Given the description of an element on the screen output the (x, y) to click on. 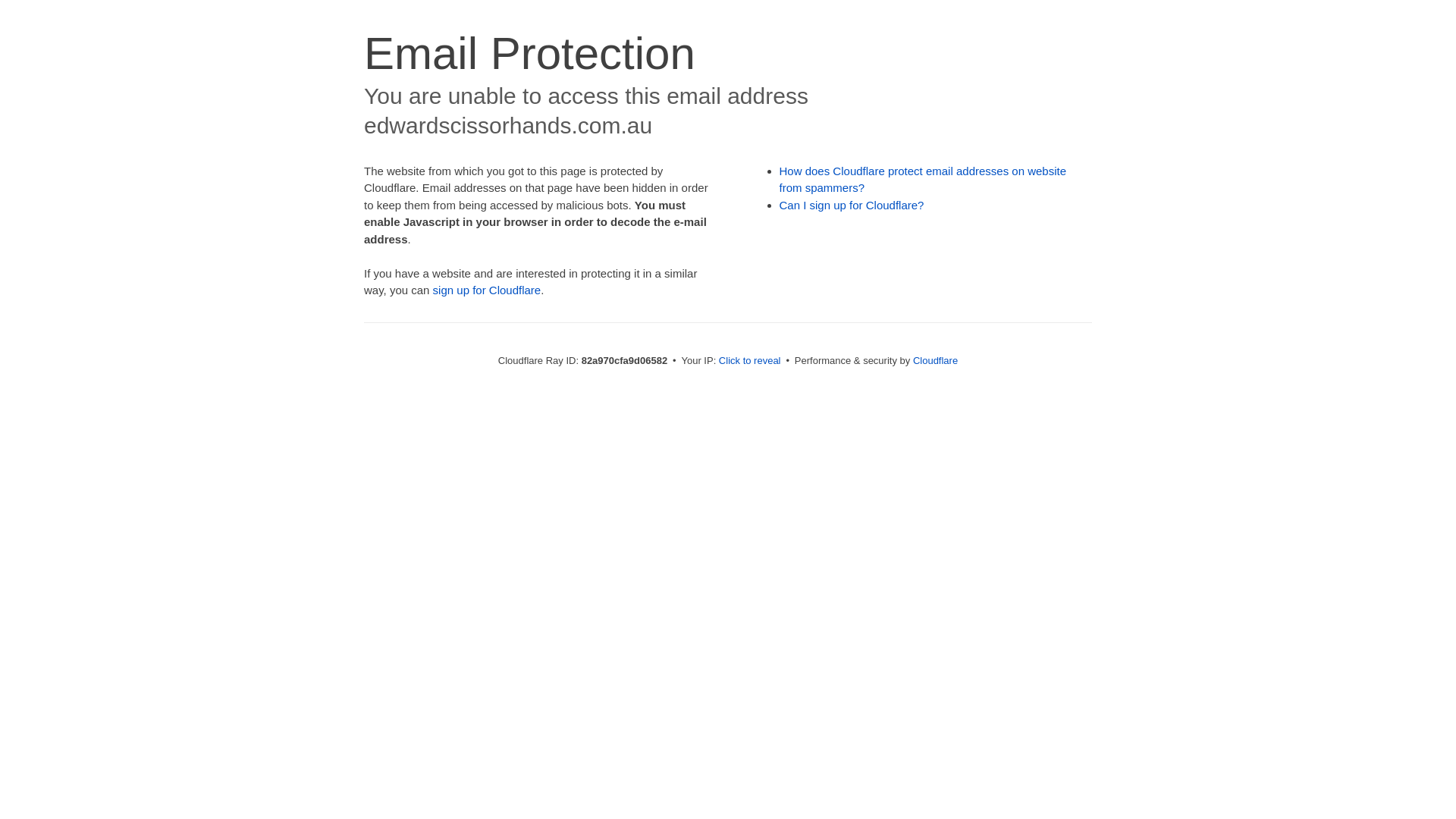
Click to reveal Element type: text (749, 360)
sign up for Cloudflare Element type: text (487, 289)
Cloudflare Element type: text (935, 360)
Can I sign up for Cloudflare? Element type: text (851, 204)
